Given the description of an element on the screen output the (x, y) to click on. 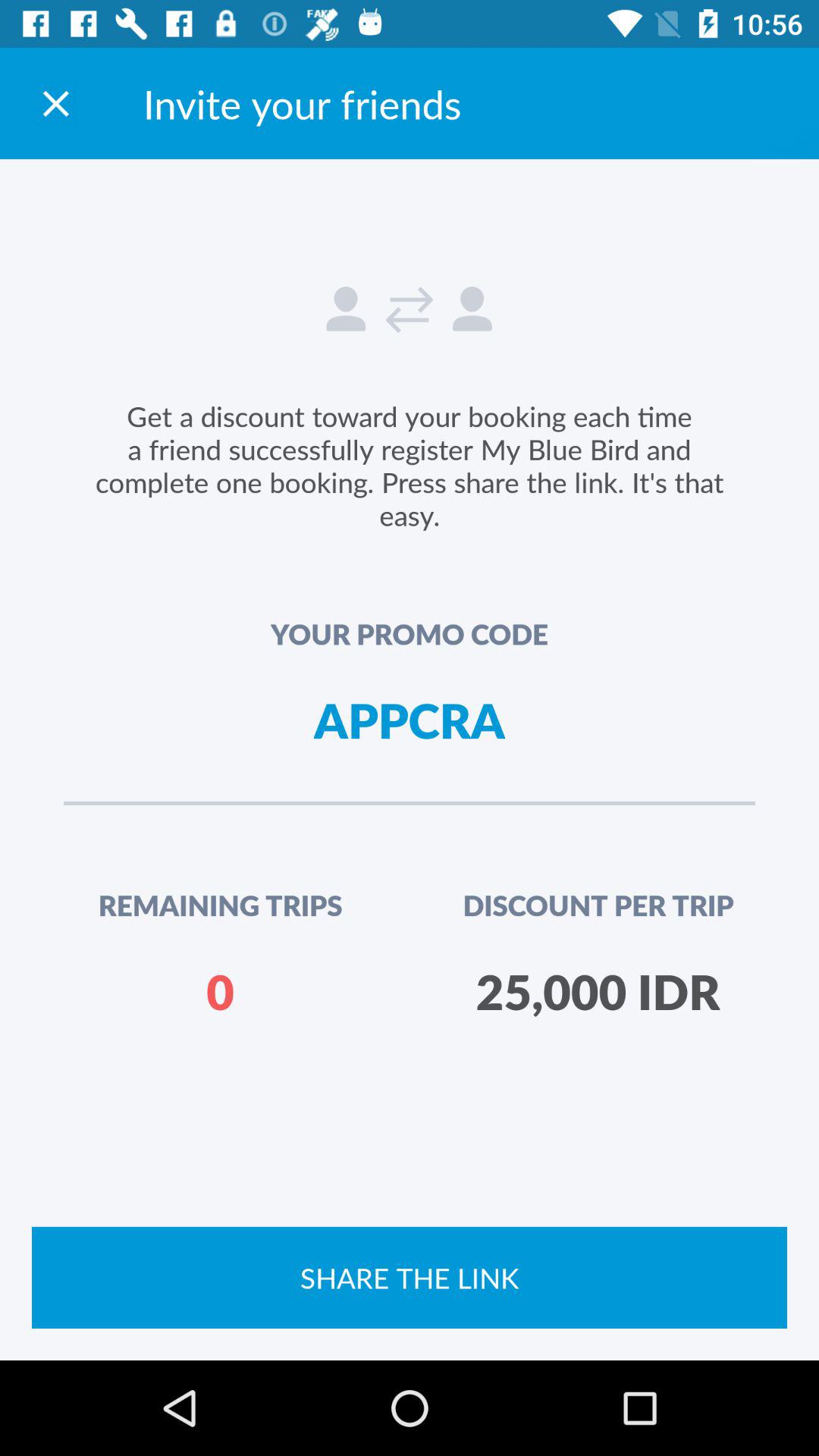
close the tab (55, 103)
